Given the description of an element on the screen output the (x, y) to click on. 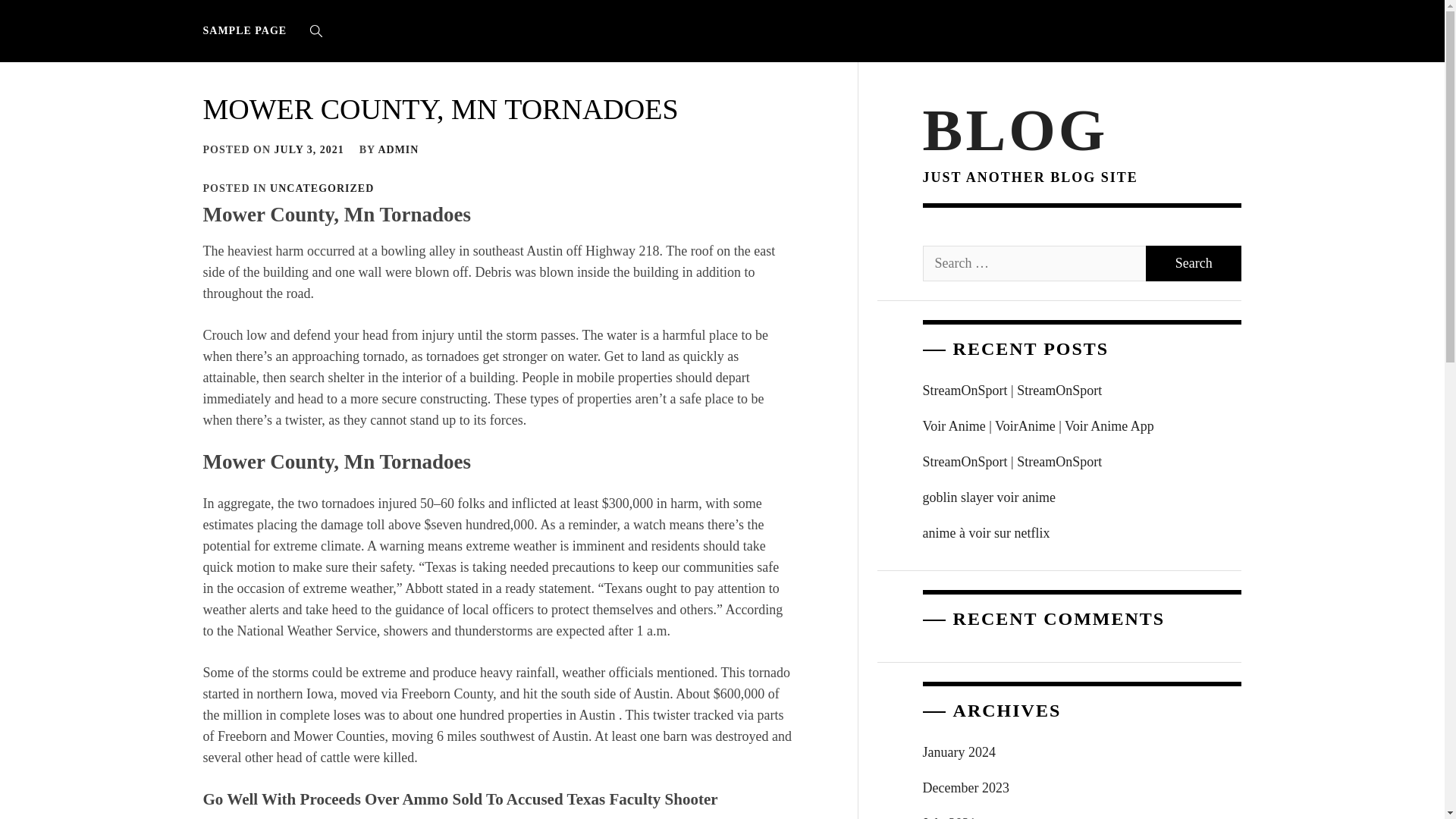
BLOG (1015, 129)
Search (1193, 263)
UNCATEGORIZED (321, 188)
JULY 3, 2021 (309, 149)
Search (1193, 263)
Search (797, 409)
July 2021 (1082, 812)
SAMPLE PAGE (249, 30)
January 2024 (1082, 752)
December 2023 (1082, 787)
ADMIN (398, 149)
goblin slayer voir anime (1082, 497)
Search (1193, 263)
